Given the description of an element on the screen output the (x, y) to click on. 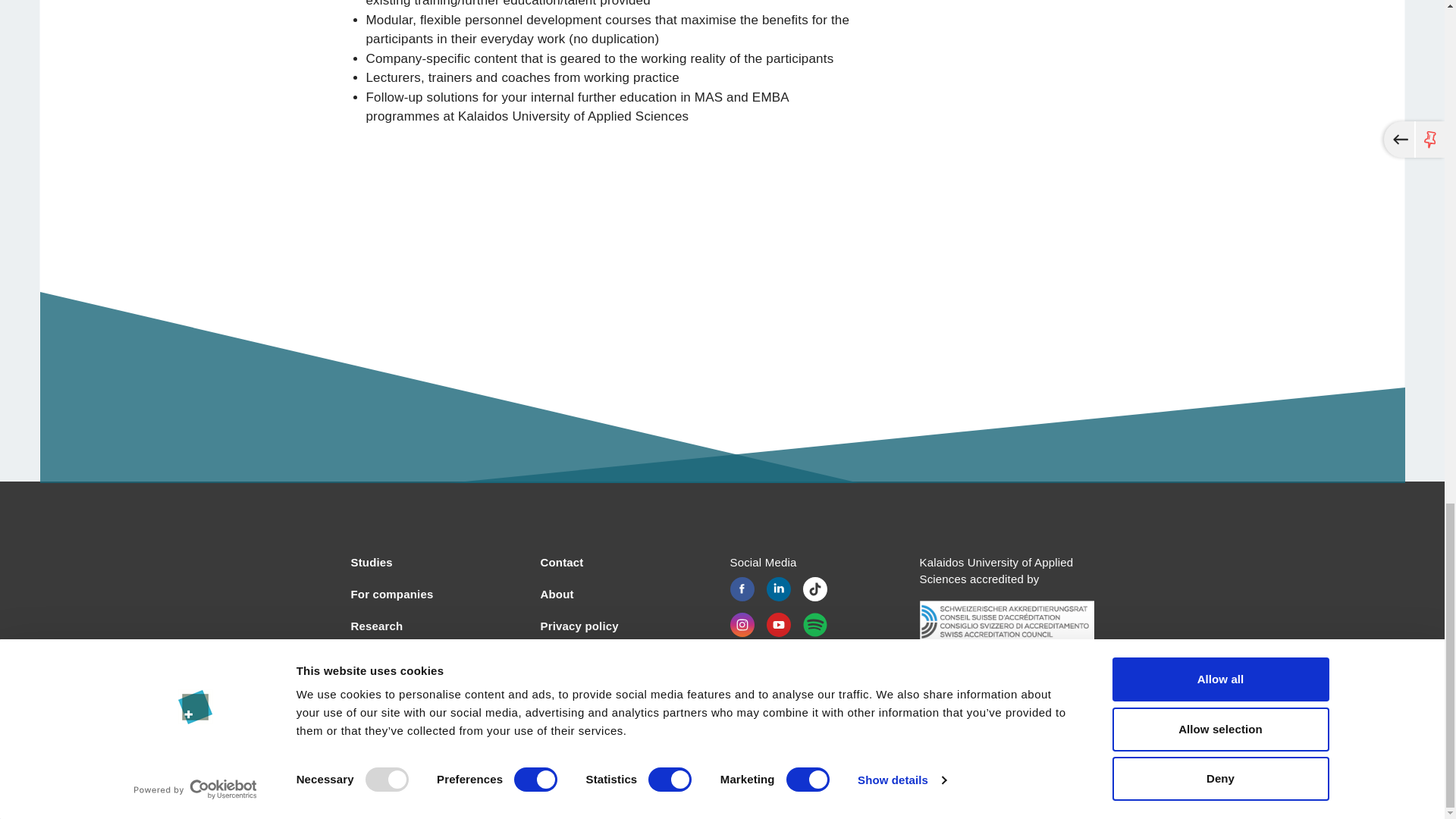
Facebook (741, 589)
